Given the description of an element on the screen output the (x, y) to click on. 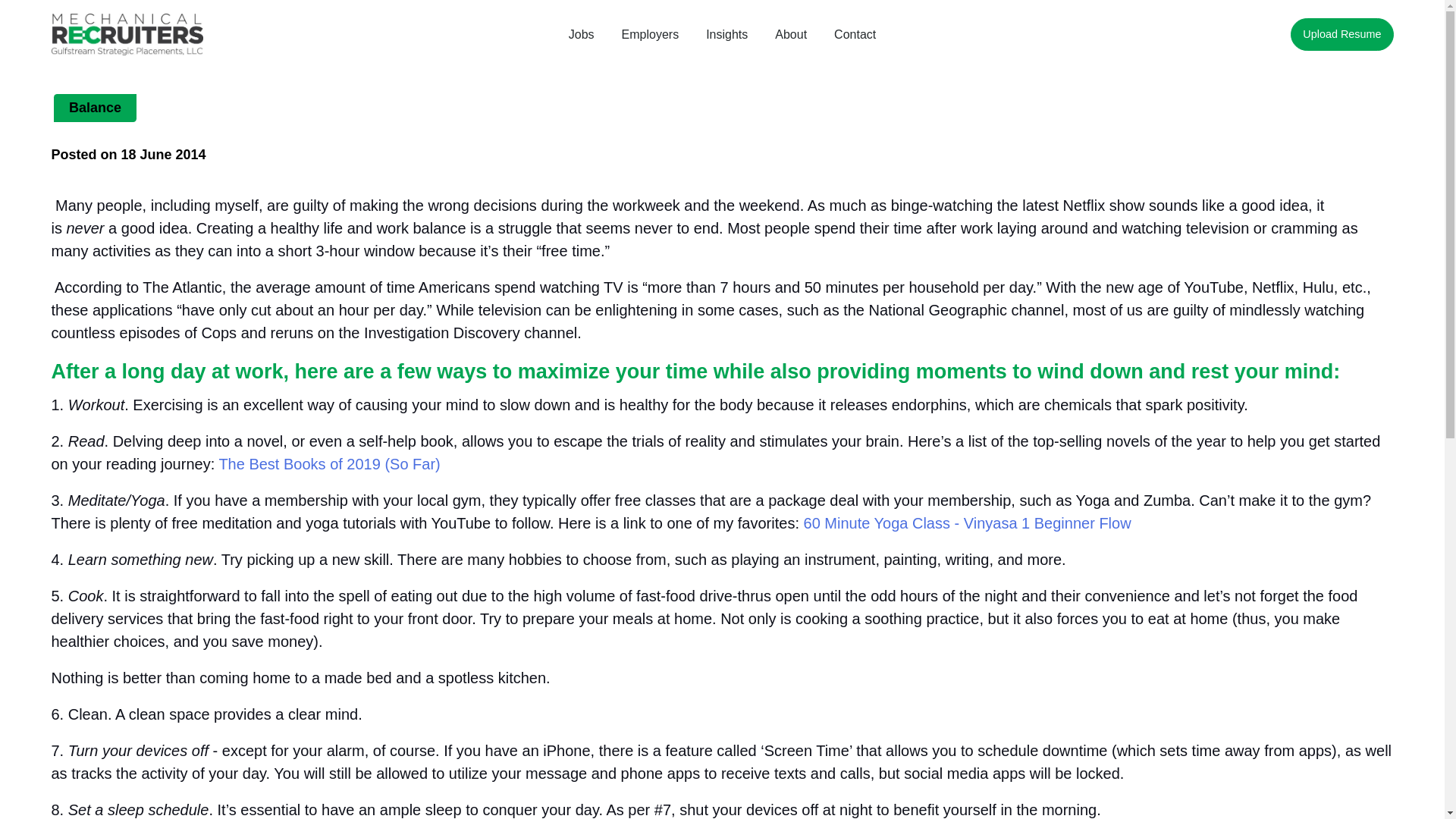
Insights (726, 34)
Jobs (581, 34)
Balance (94, 108)
About (790, 34)
60 Minute Yoga Class - Vinyasa 1 Beginner Flow (967, 523)
Contact (854, 34)
Employers (649, 34)
Upload Resume (1341, 34)
